Given the description of an element on the screen output the (x, y) to click on. 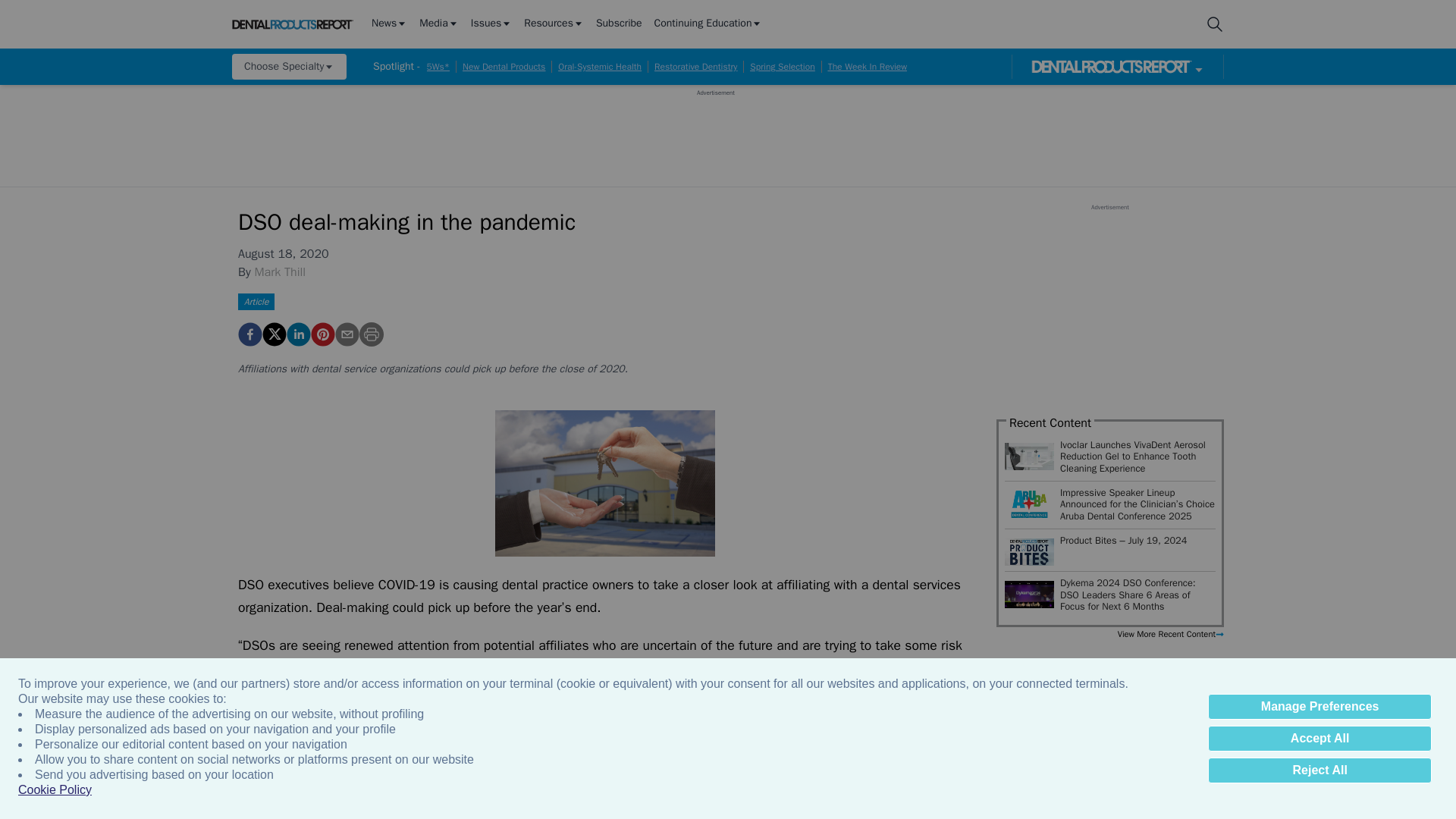
DSO deal-making in the pandemic (322, 334)
Cookie Policy (54, 789)
Accept All (1319, 738)
DSO deal-making in the pandemic (250, 334)
Resources (553, 23)
3rd party ad content (715, 131)
Reject All (1319, 769)
Subscribe (618, 23)
Media (438, 23)
DSOs may be growing more during pandemic (604, 483)
Issues (491, 23)
Continuing Education (707, 23)
Manage Preferences (1319, 706)
News (389, 23)
